Given the description of an element on the screen output the (x, y) to click on. 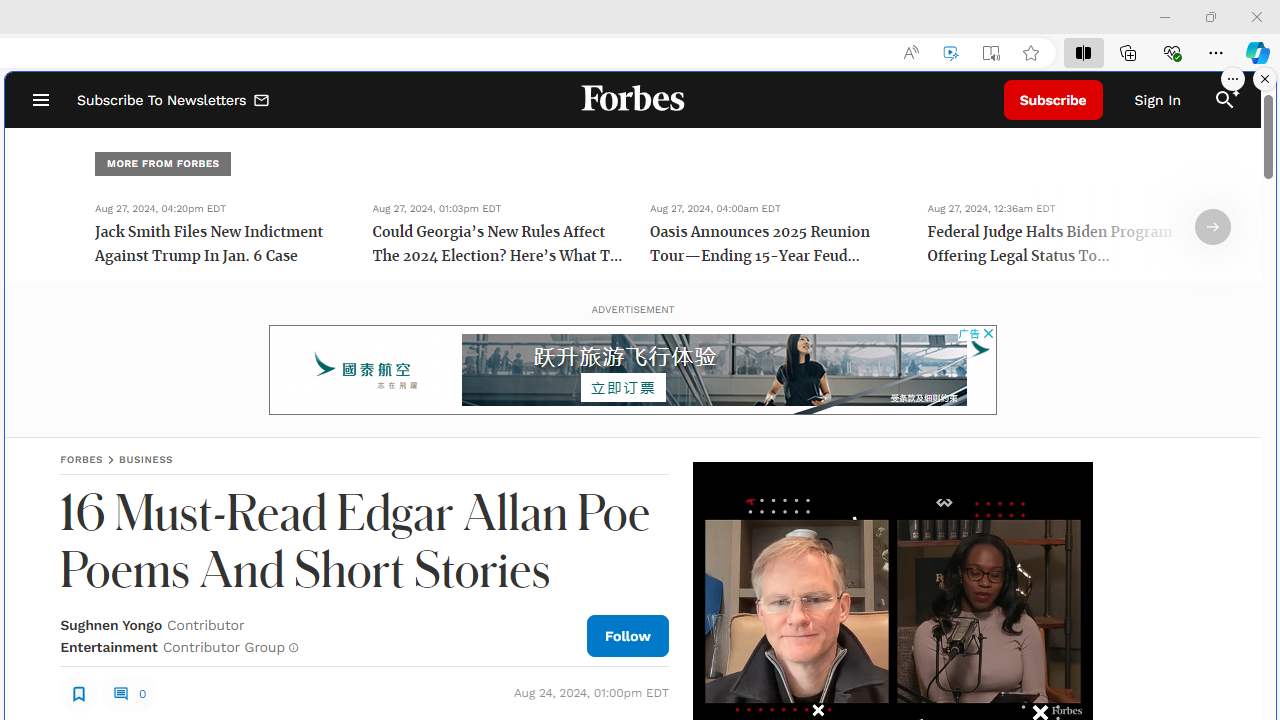
Class: search_svg__fs-icon search_svg__fs-icon--search (1224, 99)
Subscribe (1053, 99)
Enter Immersive Reader (F9) (991, 53)
Sign In (1157, 100)
Open Navigation Menu (40, 99)
Follow Author (627, 635)
Jack Smith Files New Indictment Against Trump In Jan. 6 Case (220, 245)
